Given the description of an element on the screen output the (x, y) to click on. 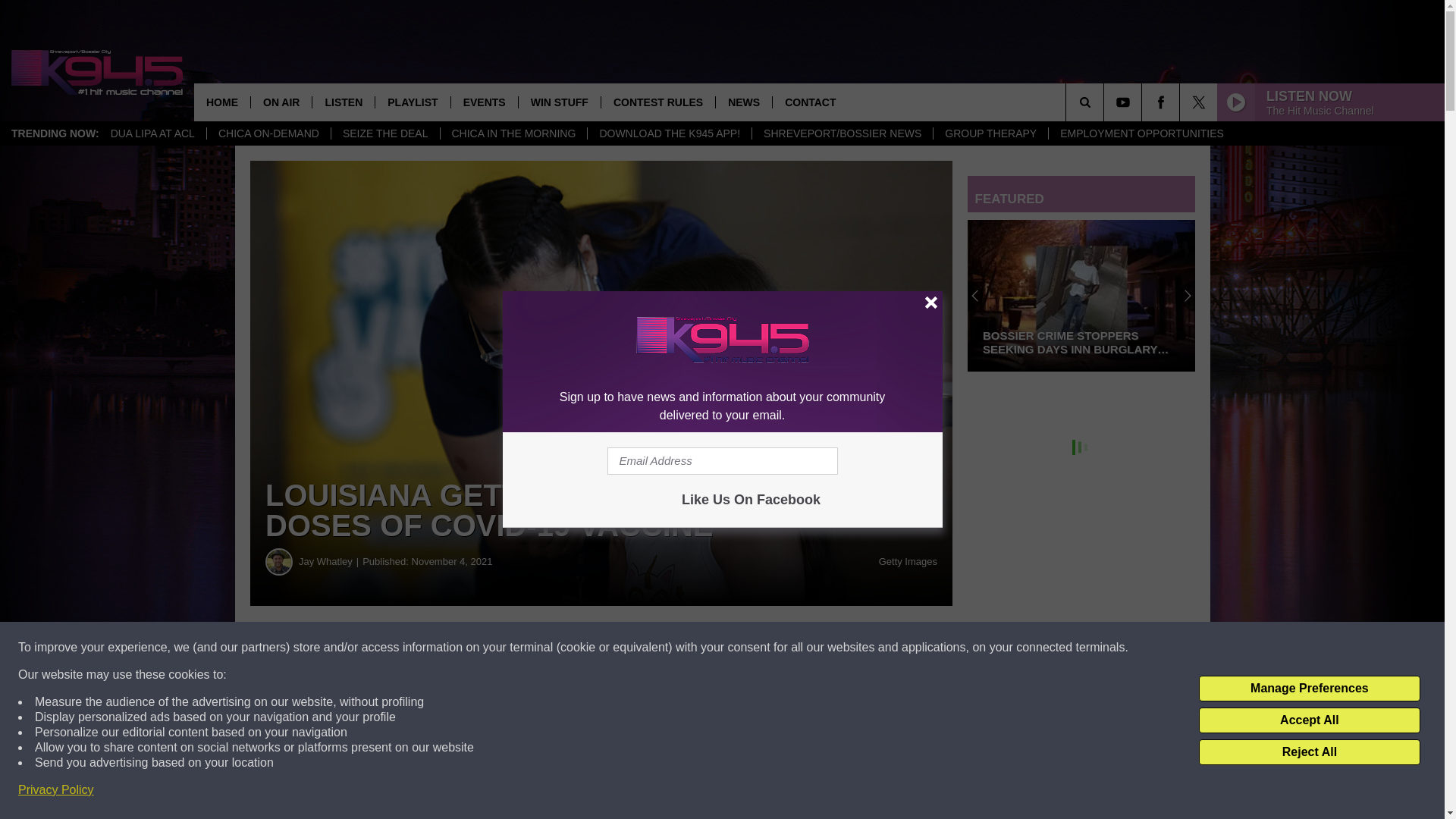
Privacy Policy (55, 789)
SEIZE THE DEAL (384, 133)
DOWNLOAD THE K945 APP! (668, 133)
HOME (221, 102)
Share on Facebook (460, 647)
GROUP THERAPY (990, 133)
WIN STUFF (558, 102)
Manage Preferences (1309, 688)
Reject All (1309, 751)
EMPLOYMENT OPPORTUNITIES (1141, 133)
SEARCH (1106, 102)
CHICA ON-DEMAND (268, 133)
Email Address (722, 461)
Share on Twitter (741, 647)
EVENTS (483, 102)
